Given the description of an element on the screen output the (x, y) to click on. 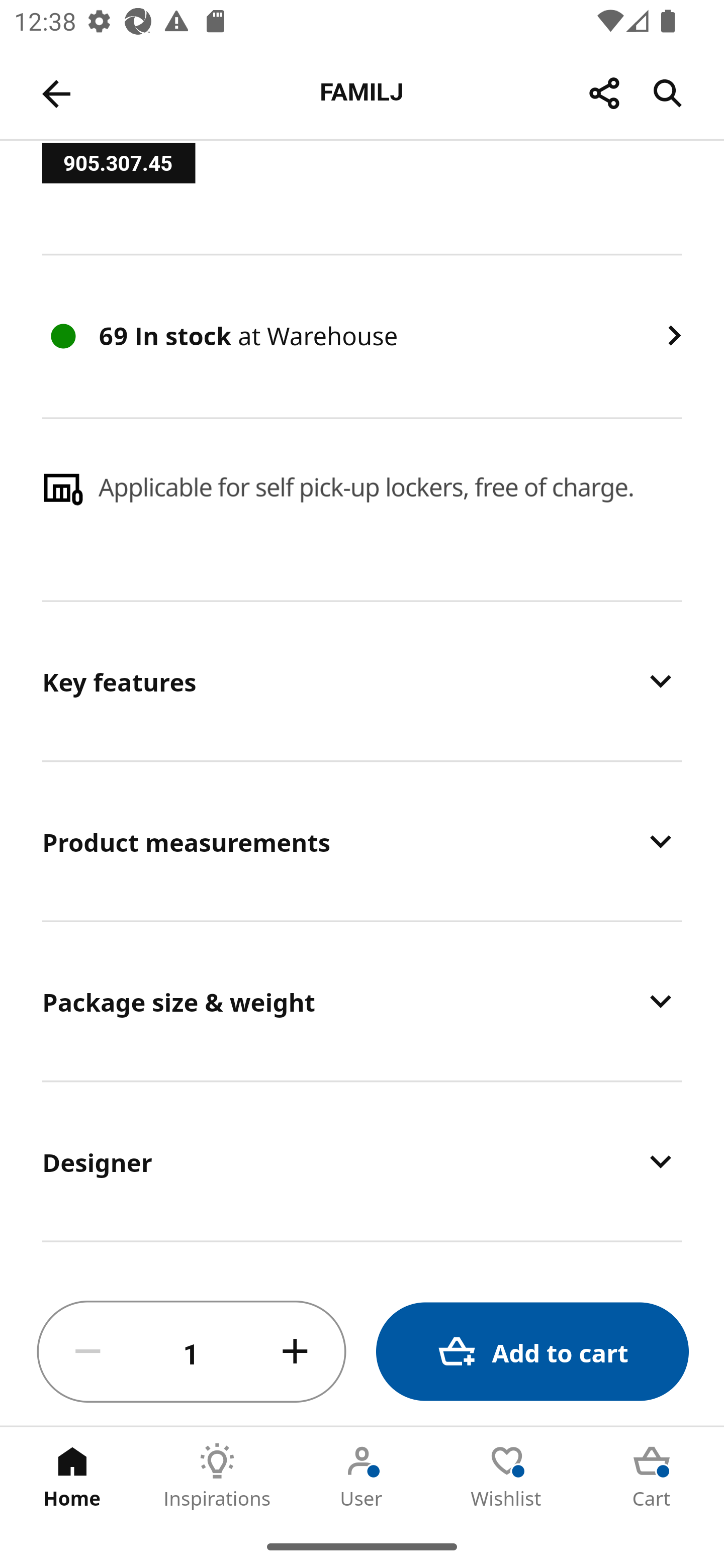
69 In stock at Warehouse (361, 336)
Key features (361, 680)
Product measurements (361, 840)
Package size & weight (361, 1000)
Designer (361, 1160)
Add to cart (531, 1352)
1 (191, 1352)
Home
Tab 1 of 5 (72, 1476)
Inspirations
Tab 2 of 5 (216, 1476)
User
Tab 3 of 5 (361, 1476)
Wishlist
Tab 4 of 5 (506, 1476)
Cart
Tab 5 of 5 (651, 1476)
